Given the description of an element on the screen output the (x, y) to click on. 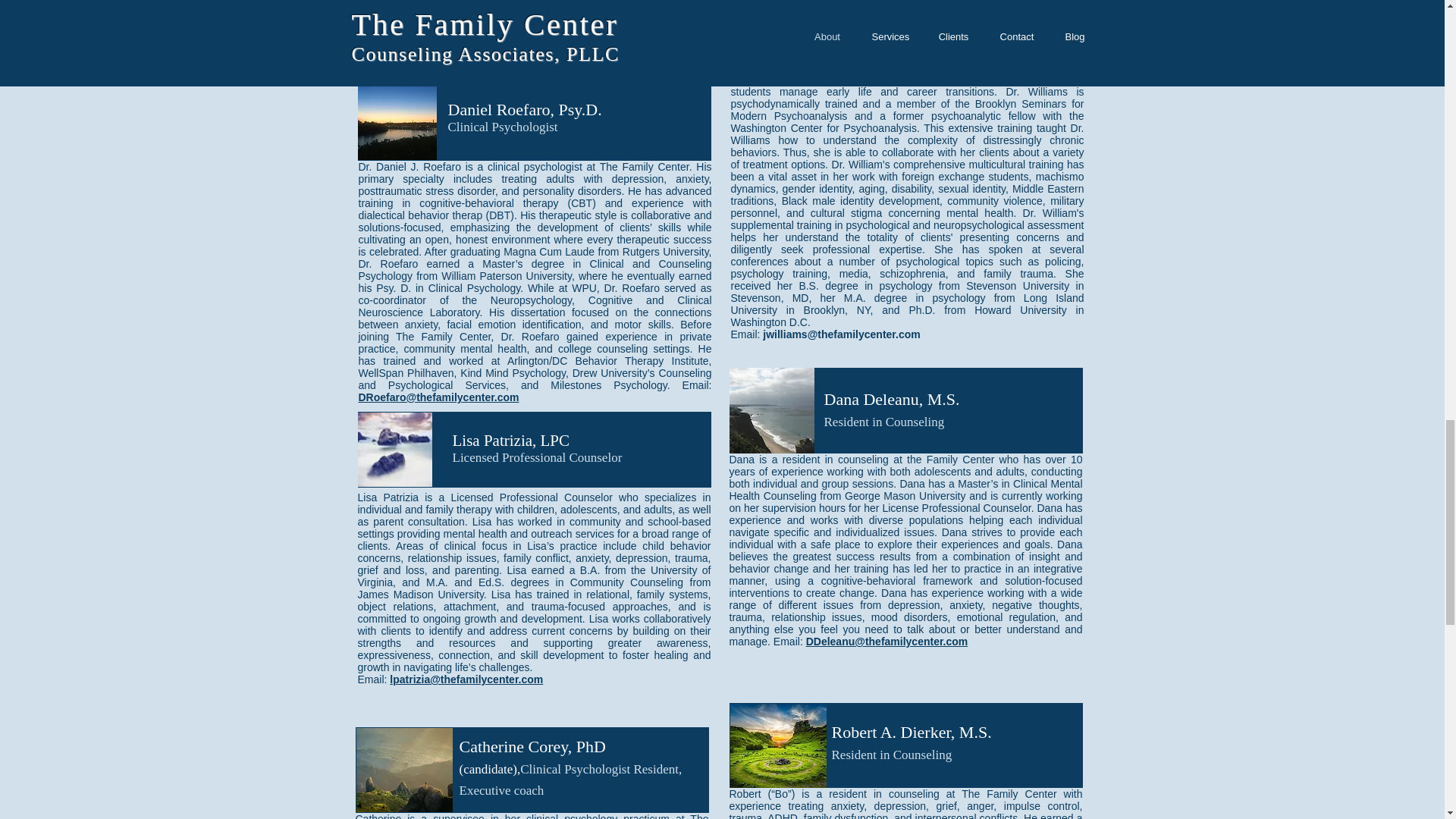
Cherry Blossom (777, 745)
Cherry Blossom (404, 770)
Cherry Blossom (397, 120)
Cherry Blossom (771, 410)
